Given the description of an element on the screen output the (x, y) to click on. 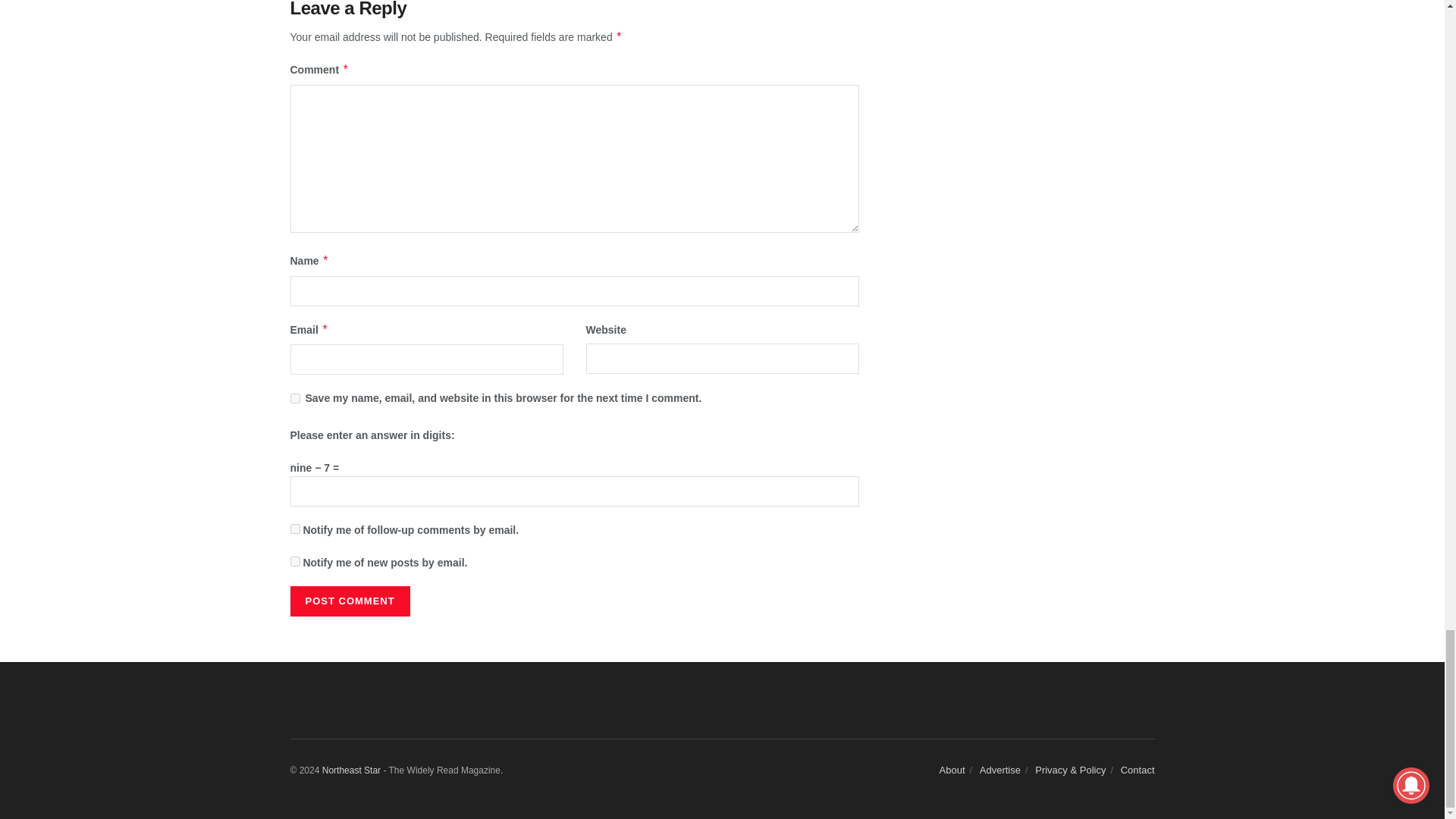
Post Comment (349, 601)
yes (294, 398)
subscribe (294, 528)
subscribe (294, 561)
